Given the description of an element on the screen output the (x, y) to click on. 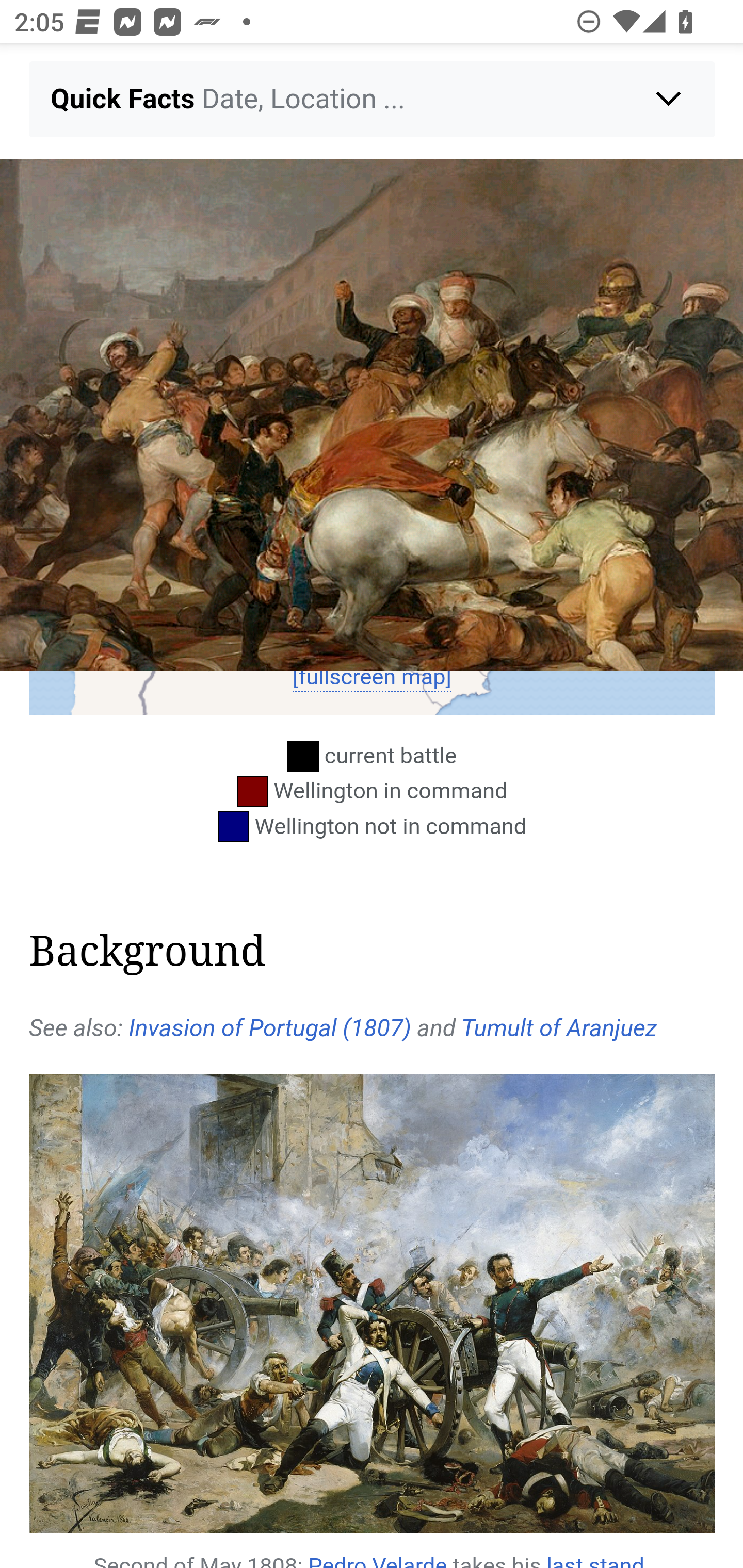
Quick Facts  Date, Location ... Expand table (372, 98)
Image: Dos de Mayo Uprising (371, 414)
[fullscreen map] (371, 677)
Invasion of Portugal (1807) (269, 1027)
Tumult of Aranjuez (559, 1027)
1280px-Dos_de_mayo%2C_por_Joaqu%C3%ADn_Sorolla (372, 1303)
